Given the description of an element on the screen output the (x, y) to click on. 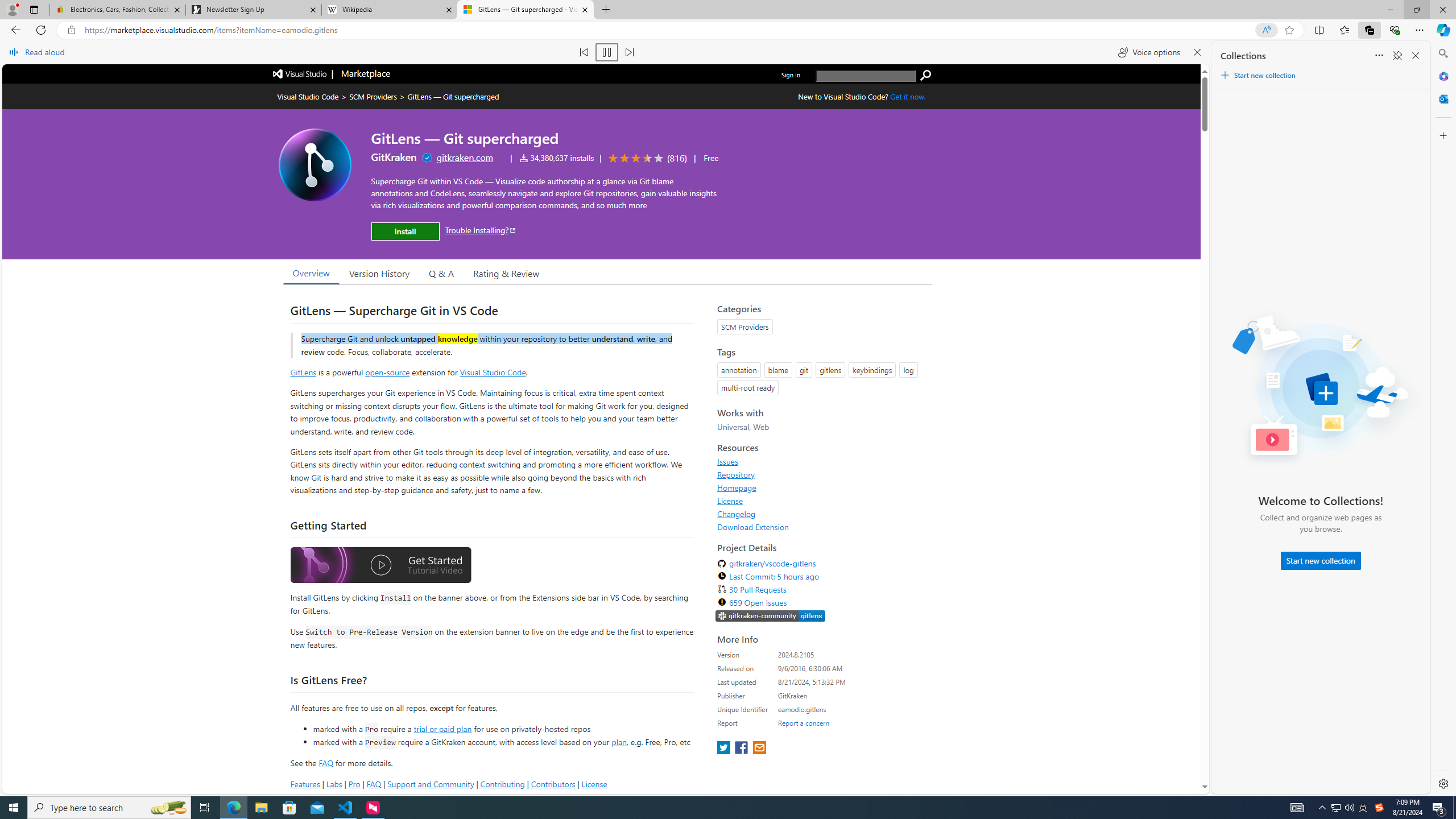
Read previous paragraph (583, 52)
trial or paid plan (442, 728)
Newsletter Sign Up (253, 9)
Changelog (820, 513)
Download Extension (753, 526)
